Given the description of an element on the screen output the (x, y) to click on. 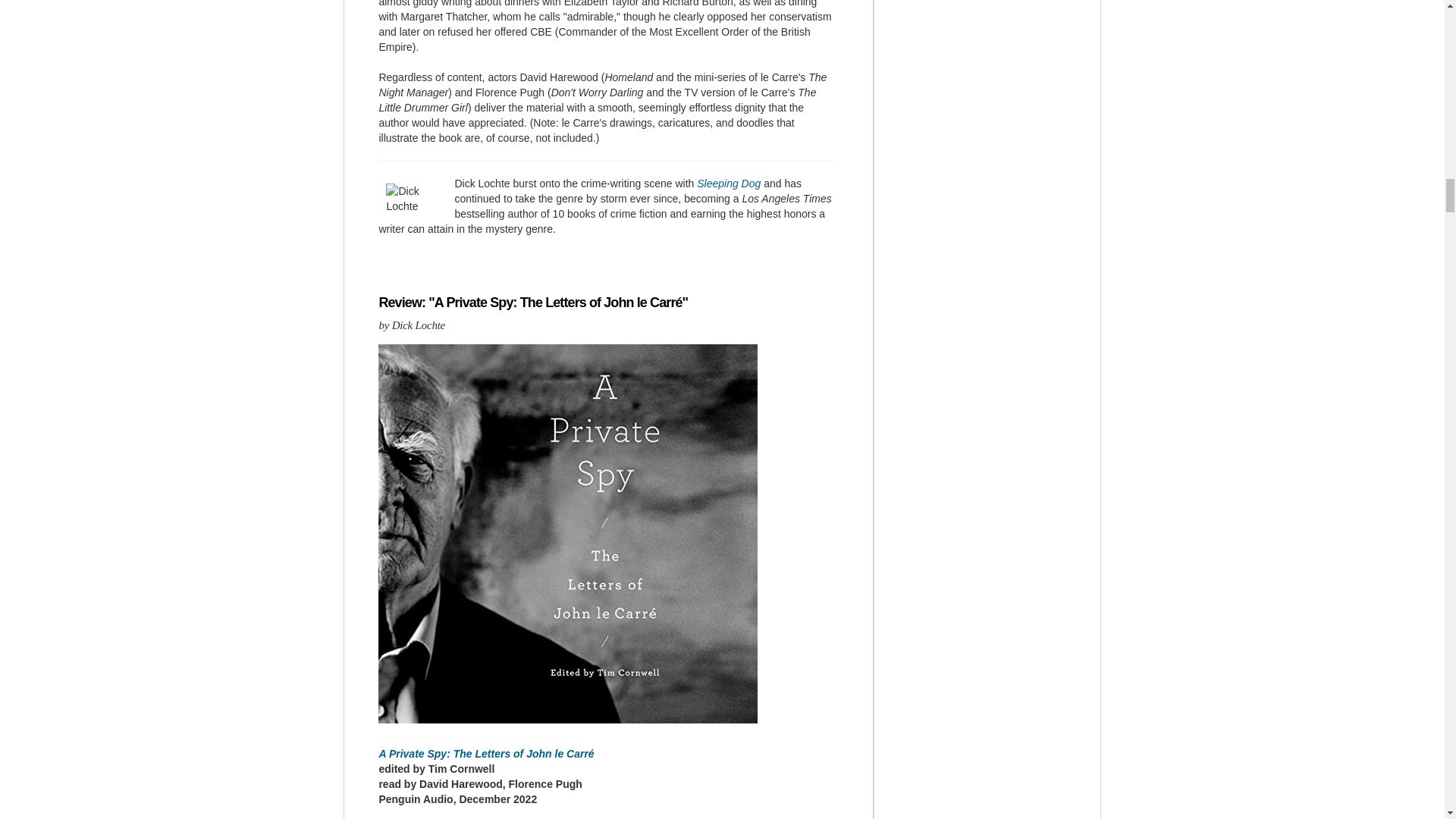
Dick Lochte (415, 198)
Sleeping Dog (728, 183)
Sleeping Dog (728, 183)
